Given the description of an element on the screen output the (x, y) to click on. 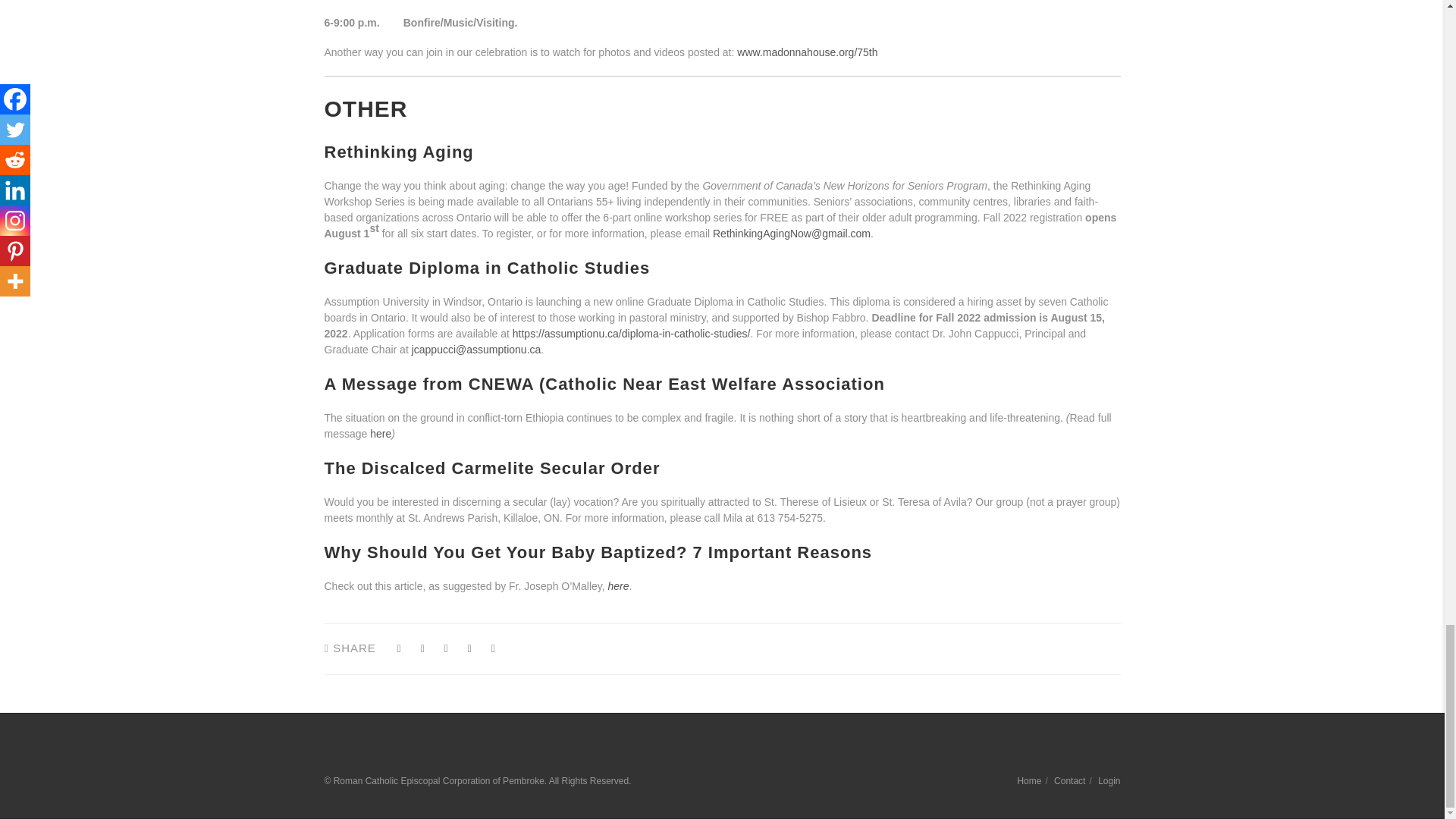
Email (492, 648)
Share on Linkedin (469, 648)
Tweet (422, 648)
Submit to Reddit (445, 648)
Share on Facebook (399, 648)
